Given the description of an element on the screen output the (x, y) to click on. 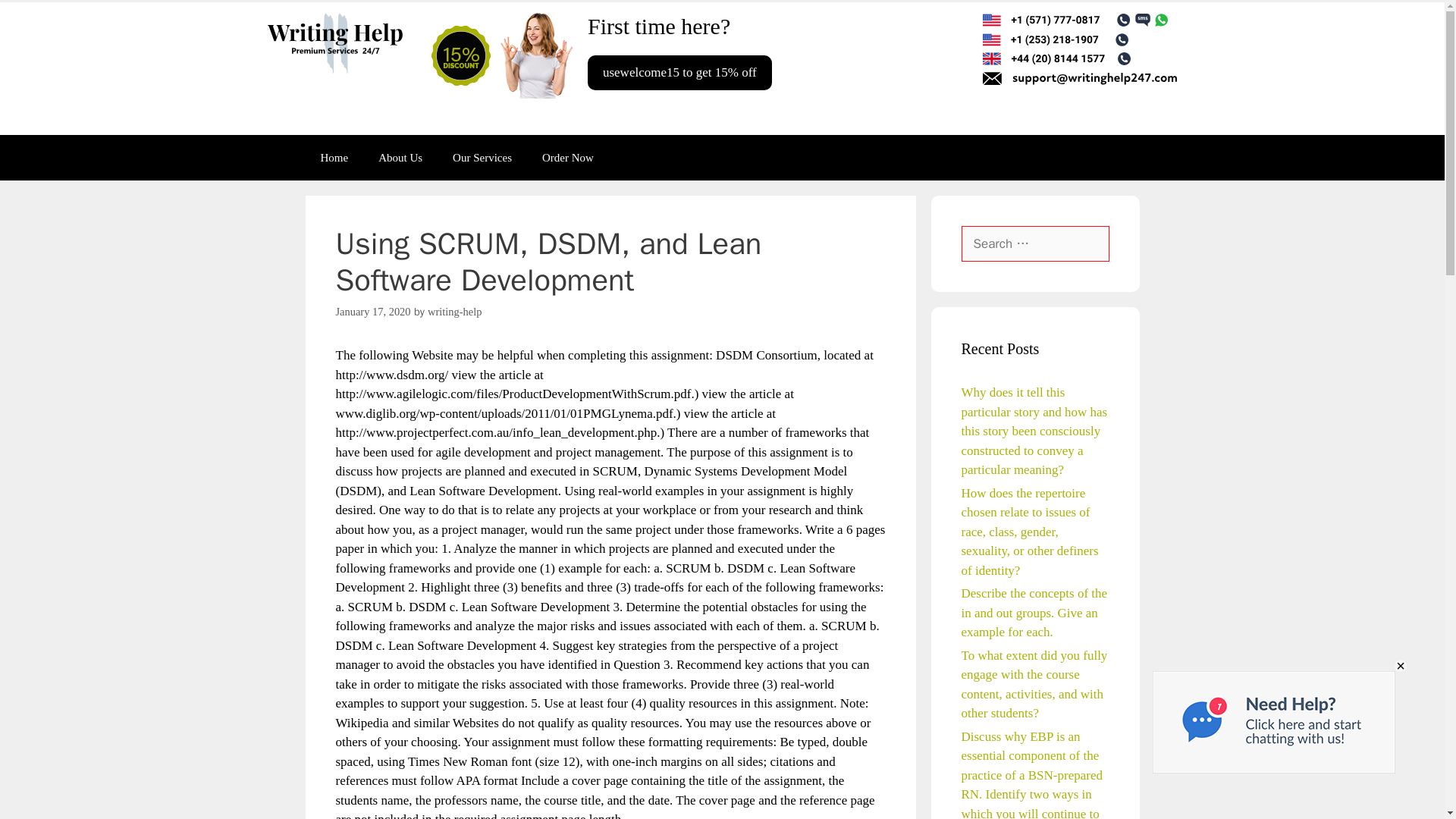
About Us (400, 157)
Search for: (1034, 244)
writing-help (454, 311)
Our Services (482, 157)
Order Now (567, 157)
Home (333, 157)
11:05 pm (372, 311)
View all posts by writing-help (454, 311)
